Given the description of an element on the screen output the (x, y) to click on. 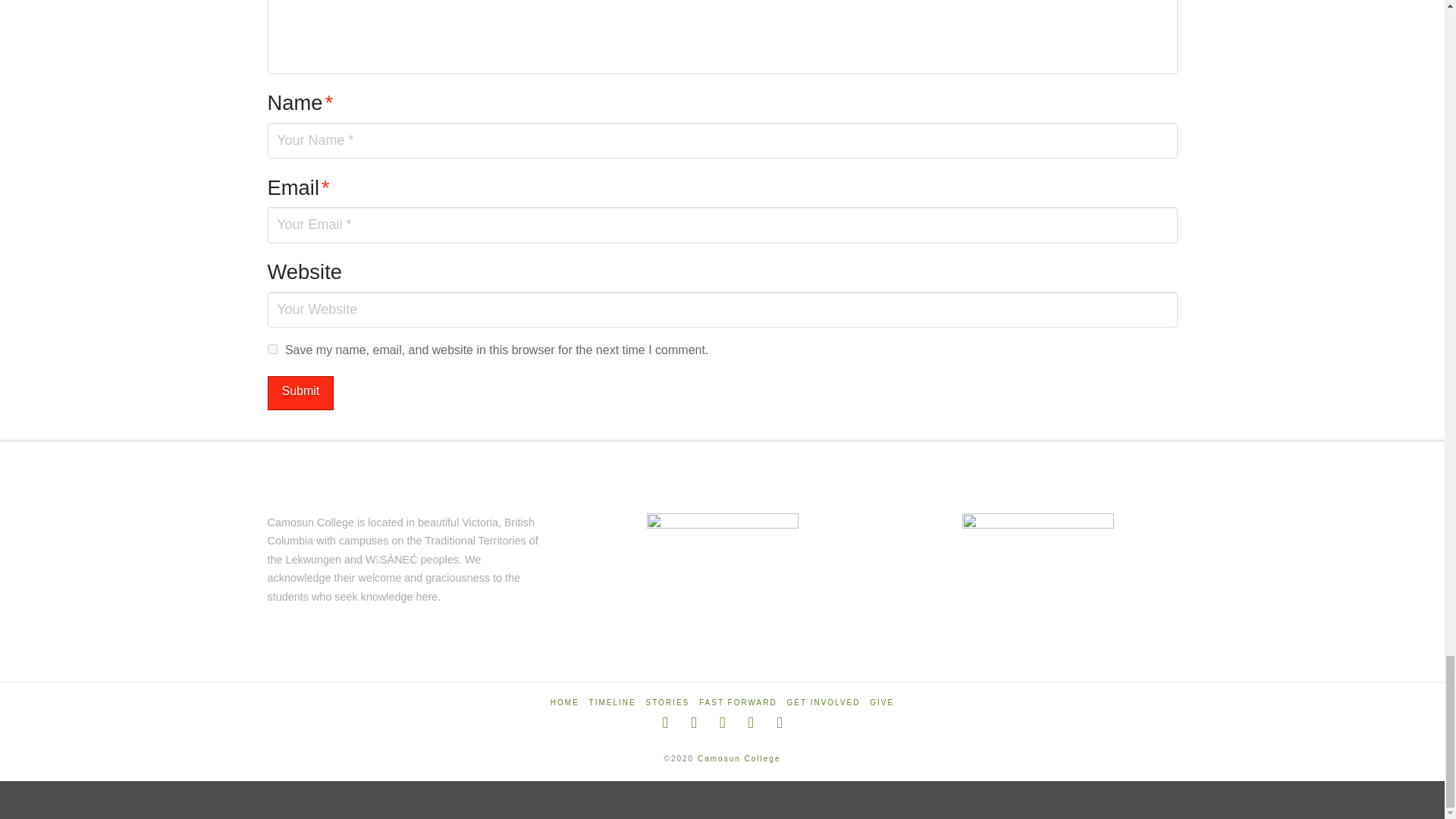
STORIES (668, 702)
BC's largest College (738, 758)
TIMELINE (612, 702)
GIVE (881, 702)
HOME (564, 702)
FAST FORWARD (737, 702)
Submit (299, 392)
GET INVOLVED (823, 702)
Submit (299, 392)
yes (271, 348)
